Given the description of an element on the screen output the (x, y) to click on. 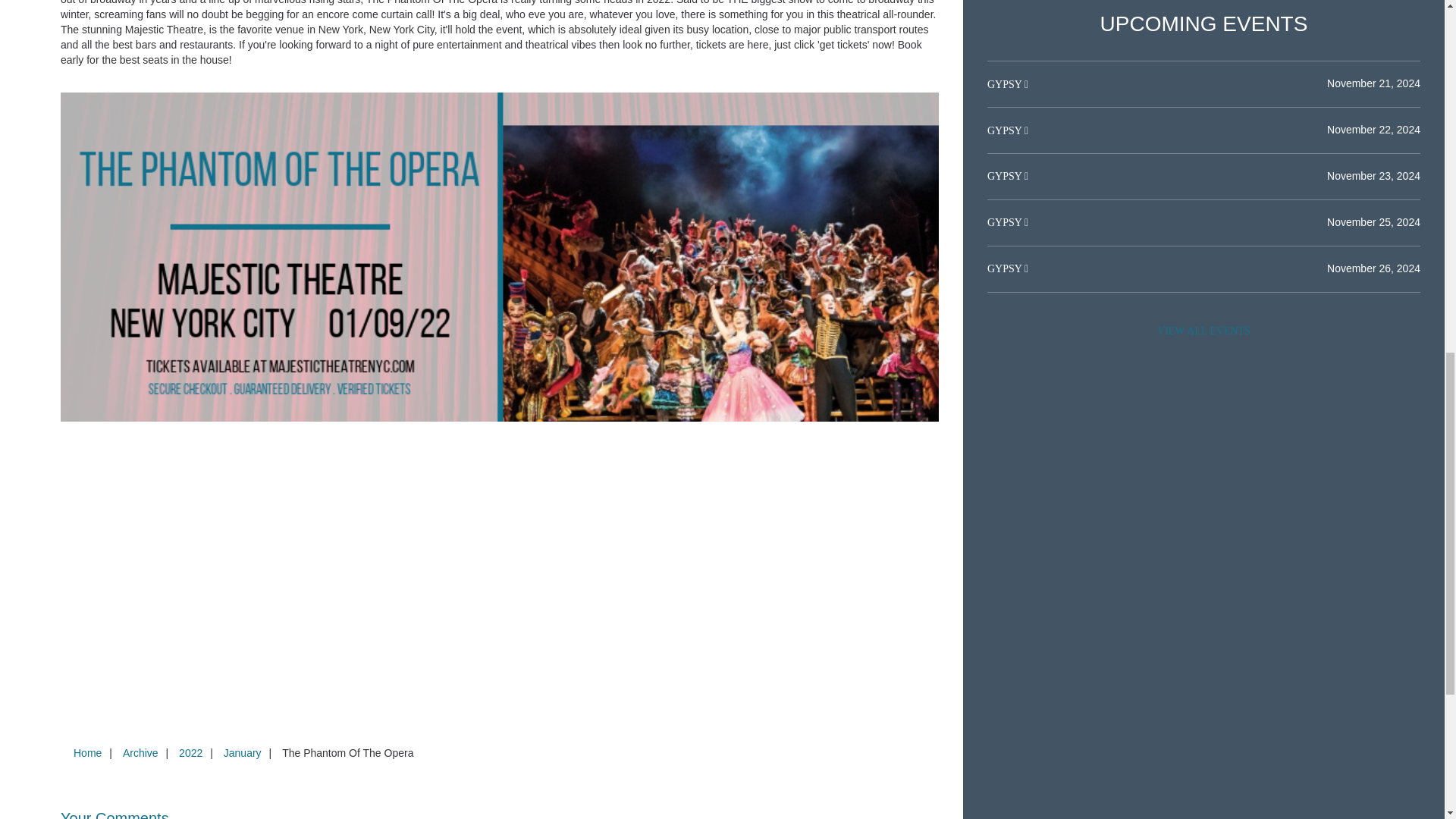
2022 (190, 752)
VIEW ALL EVENTS (1203, 330)
Home (87, 752)
Archive (140, 752)
January (242, 752)
